Given the description of an element on the screen output the (x, y) to click on. 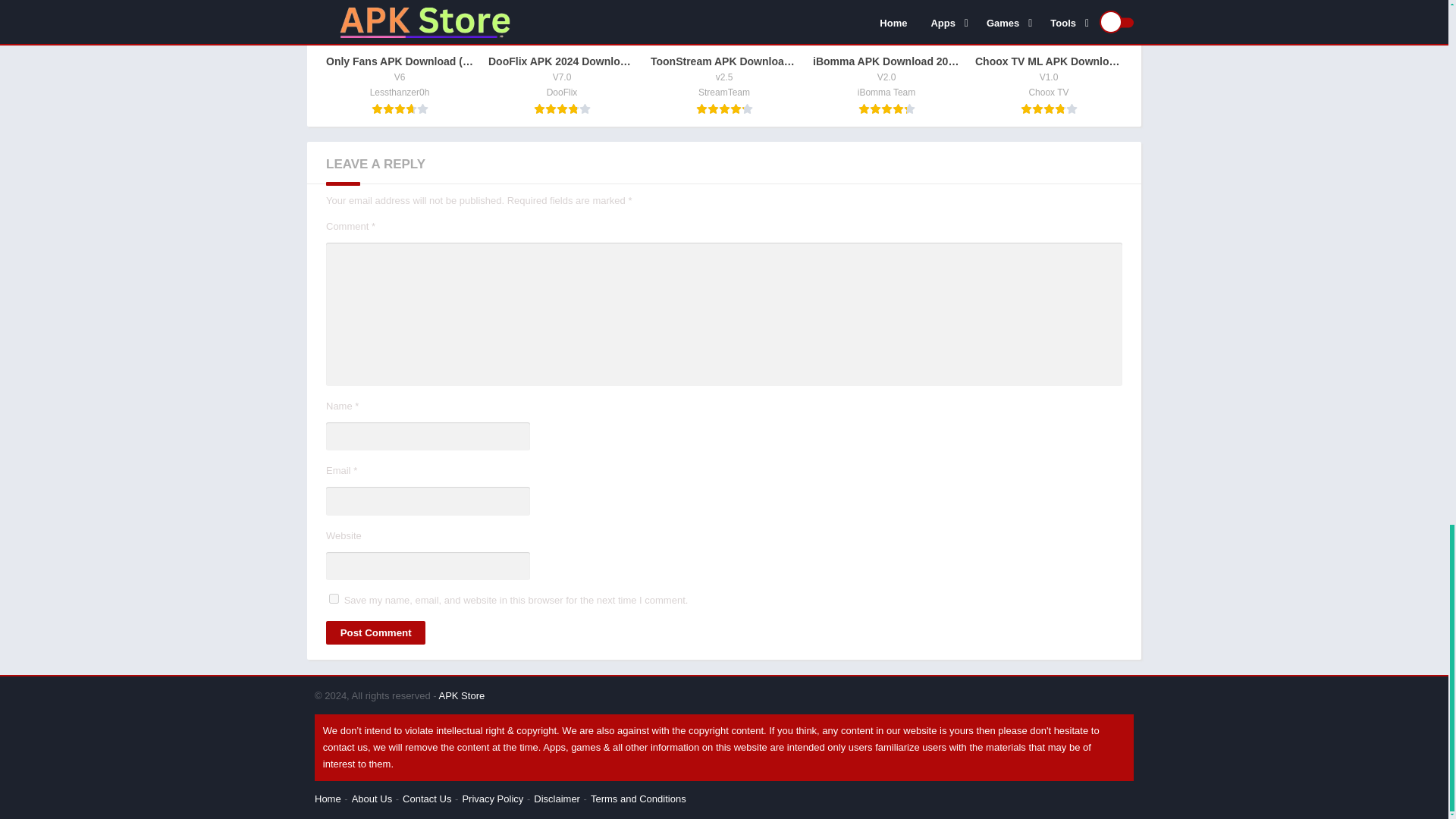
Post Comment (375, 632)
yes (334, 598)
